Given the description of an element on the screen output the (x, y) to click on. 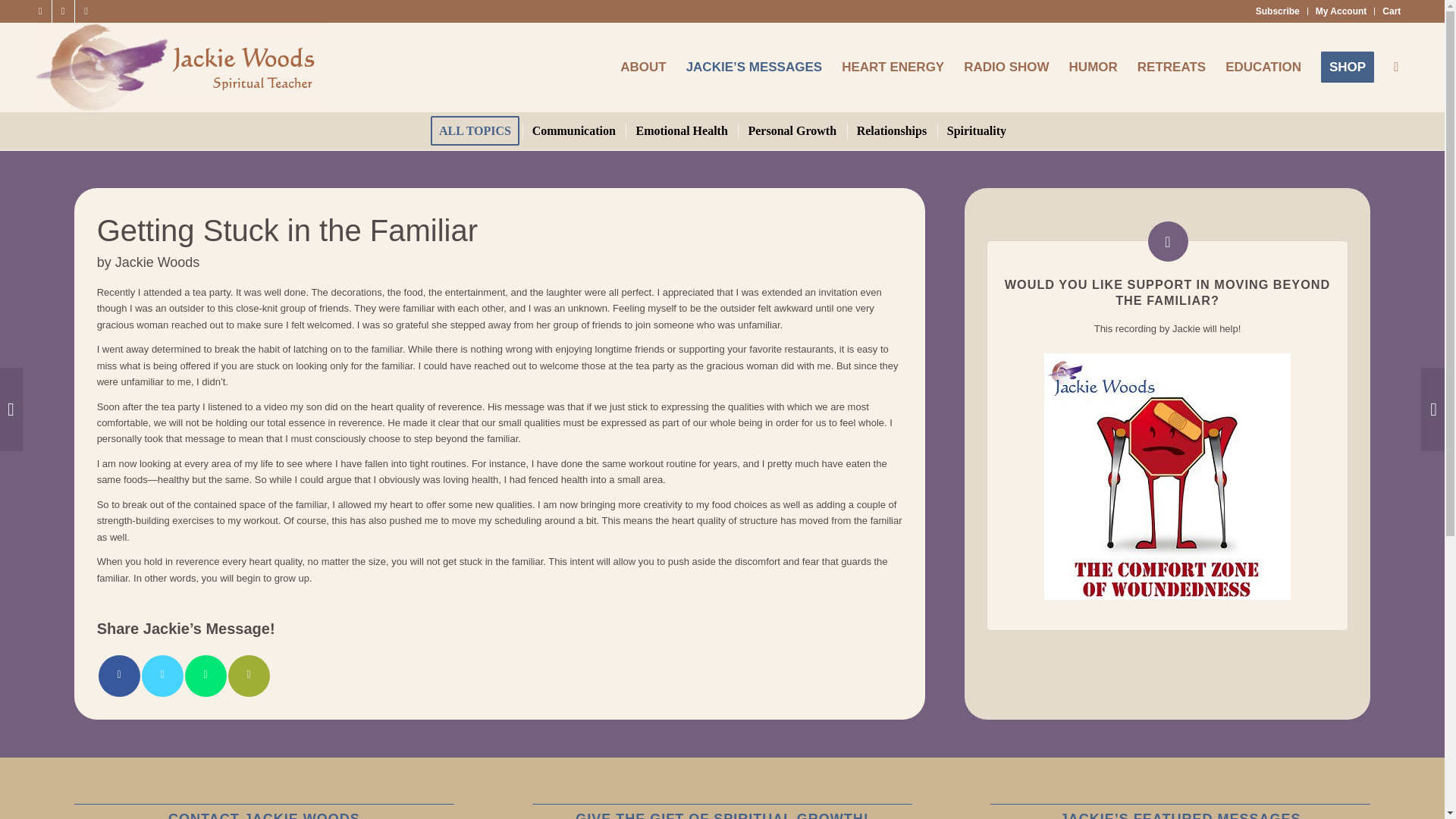
JWLogo2 (179, 67)
My Account (1341, 11)
Personal Growth (791, 130)
Spirituality (975, 130)
Subscribe (1277, 11)
Relationships (890, 130)
Facebook (39, 11)
ALL TOPICS (474, 130)
Emotional Health (680, 130)
EDUCATION (1263, 67)
